Given the description of an element on the screen output the (x, y) to click on. 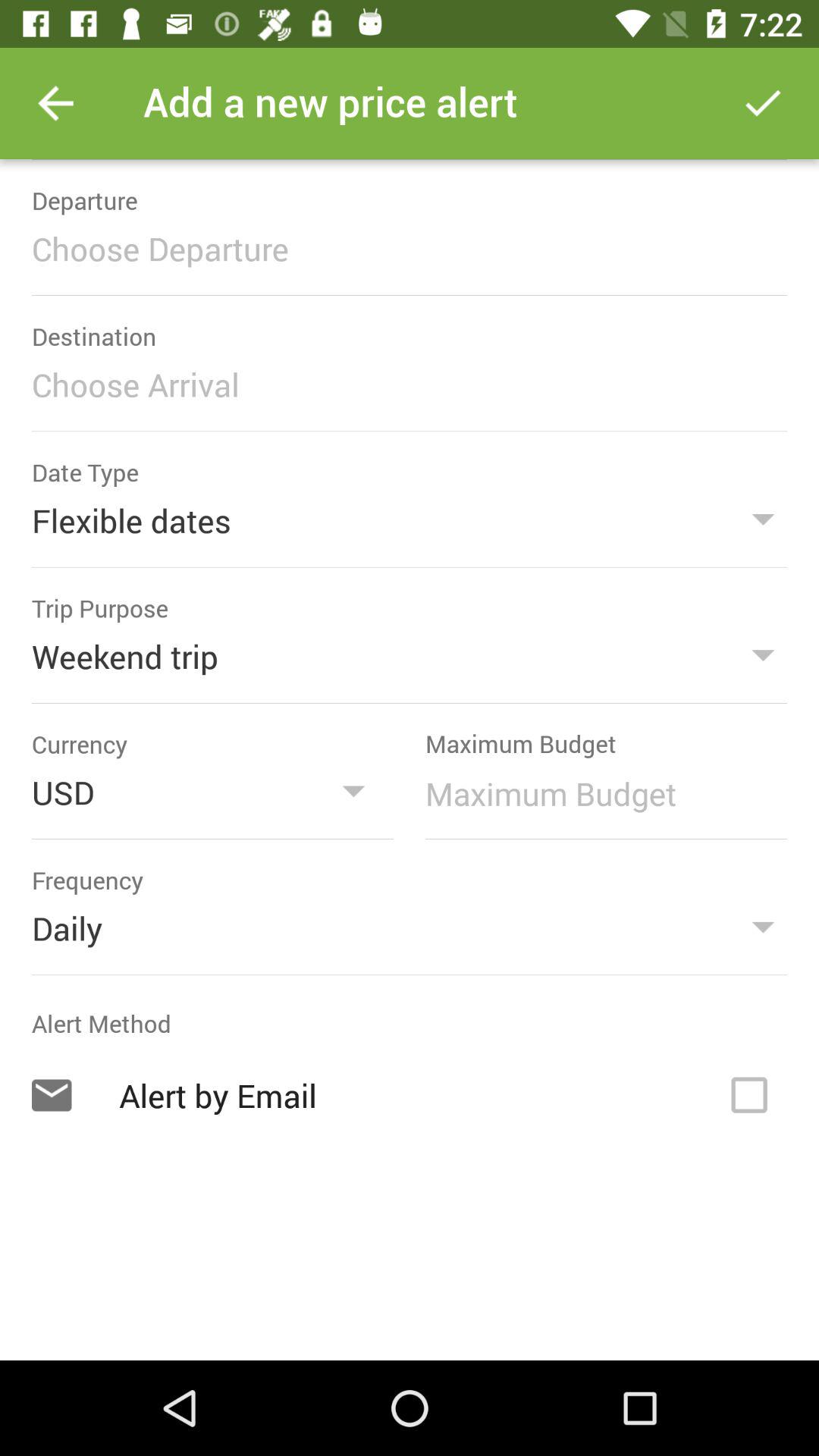
go back (55, 103)
